Given the description of an element on the screen output the (x, y) to click on. 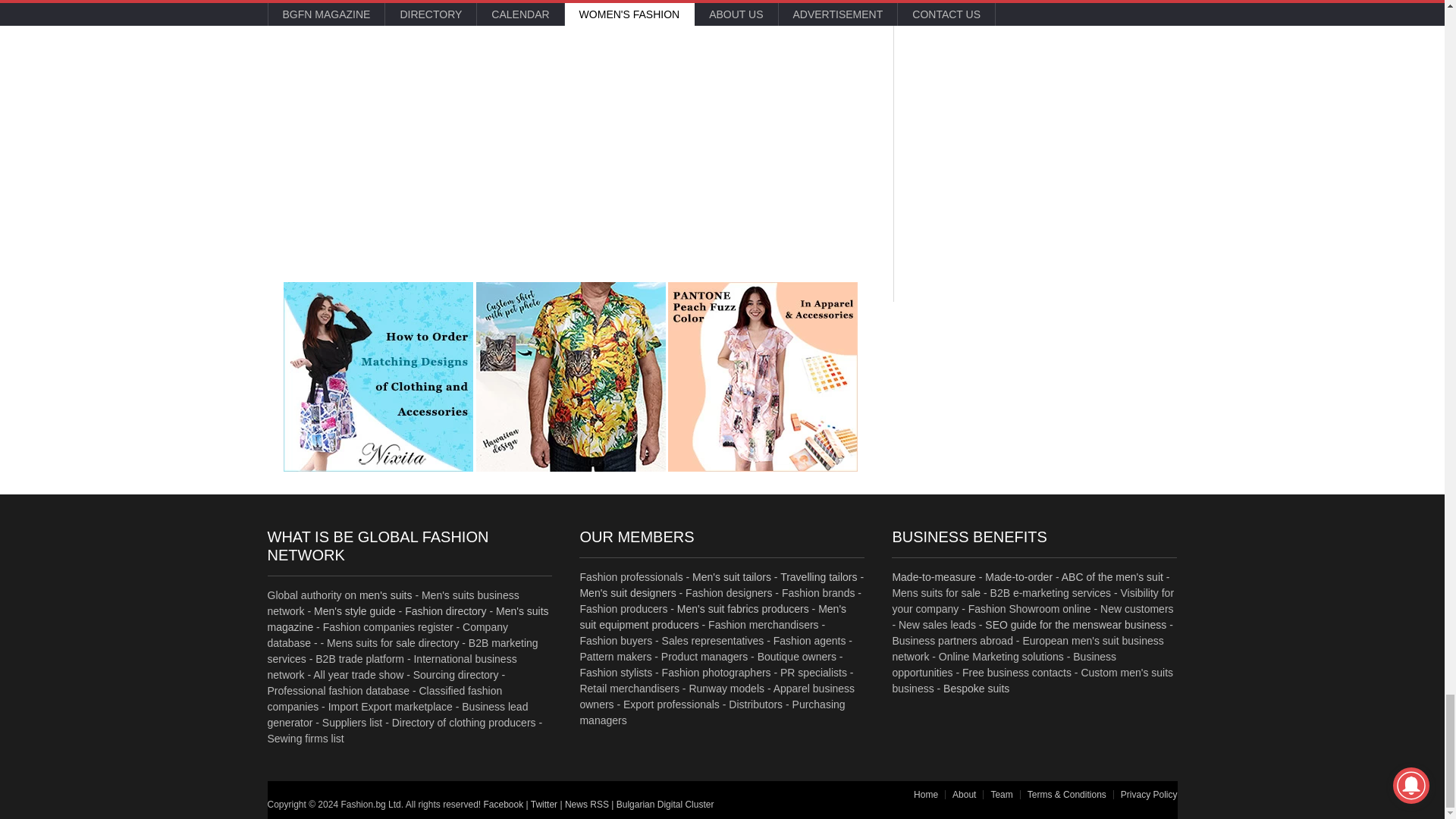
How to Use the Pantone Color of the Year 2024 (762, 376)
Is it Trending to Put Your Cat's Face on a Dress or Shirt? (570, 376)
